Given the description of an element on the screen output the (x, y) to click on. 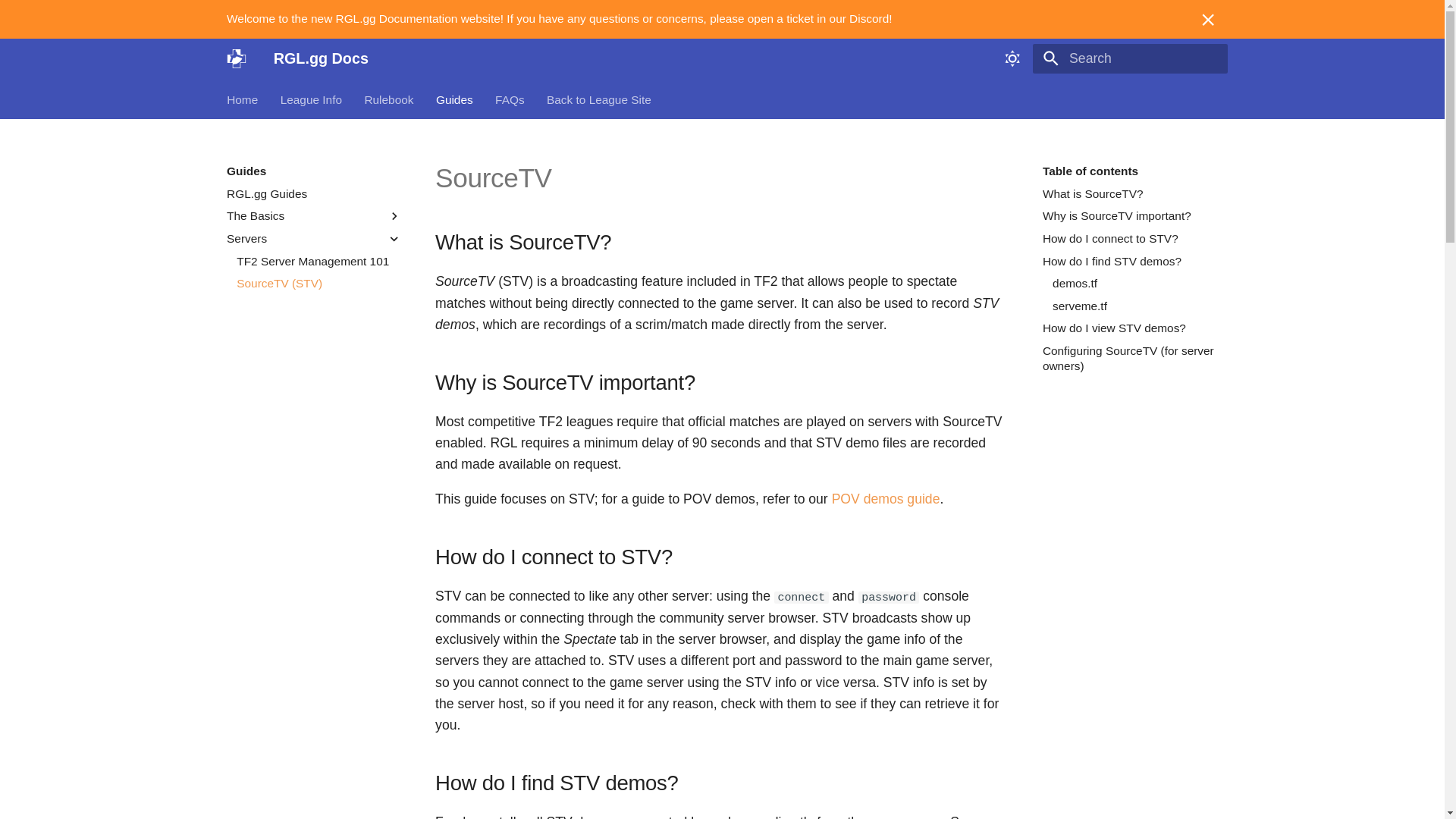
Rulebook (388, 99)
Home (242, 99)
Guides (454, 99)
League Info (311, 99)
Switch to dark mode (1012, 58)
FAQs (509, 99)
RGL.gg Docs (236, 58)
Back to League Site (598, 99)
